Given the description of an element on the screen output the (x, y) to click on. 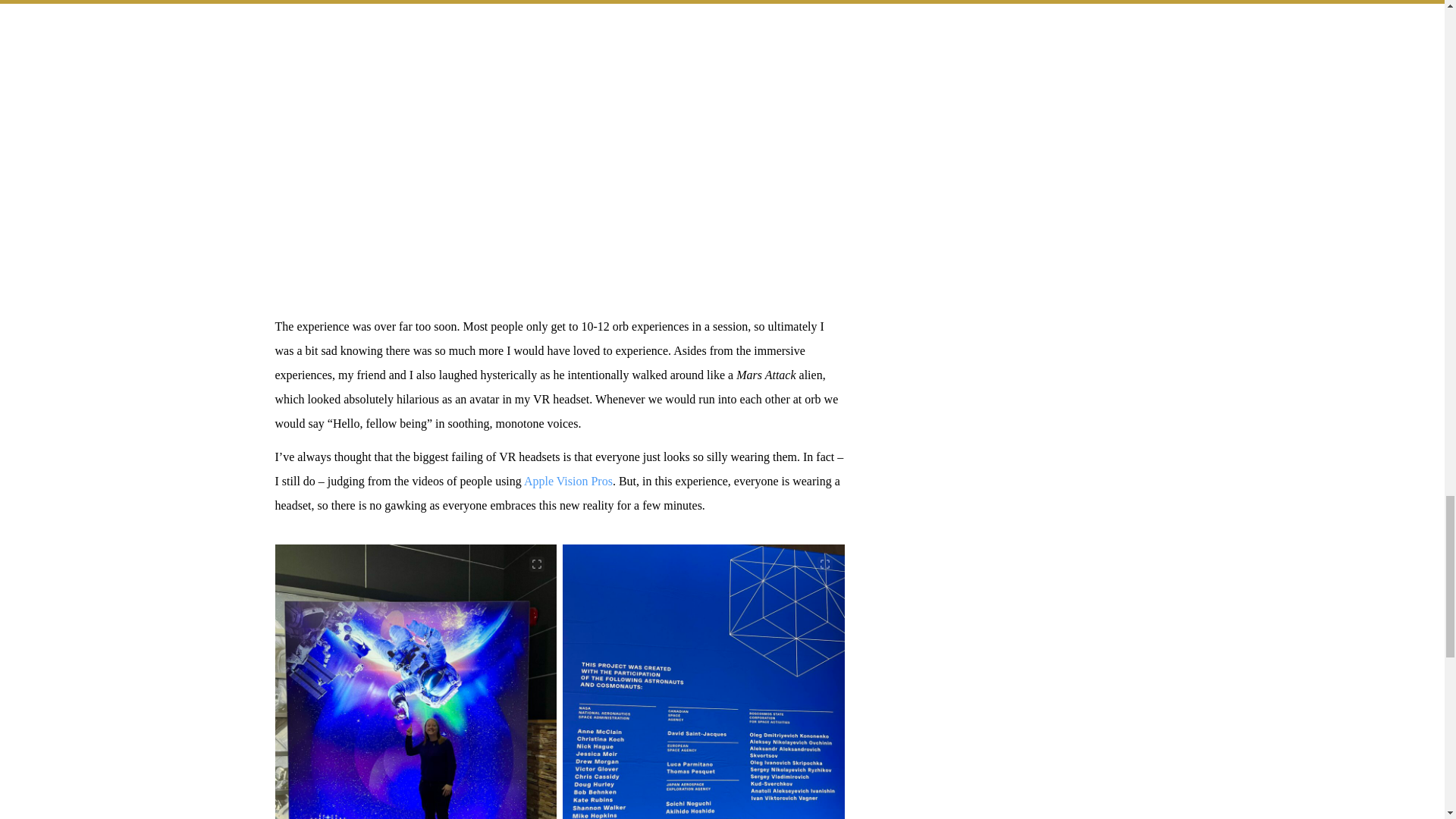
Apple Vision Pros (568, 481)
